Given the description of an element on the screen output the (x, y) to click on. 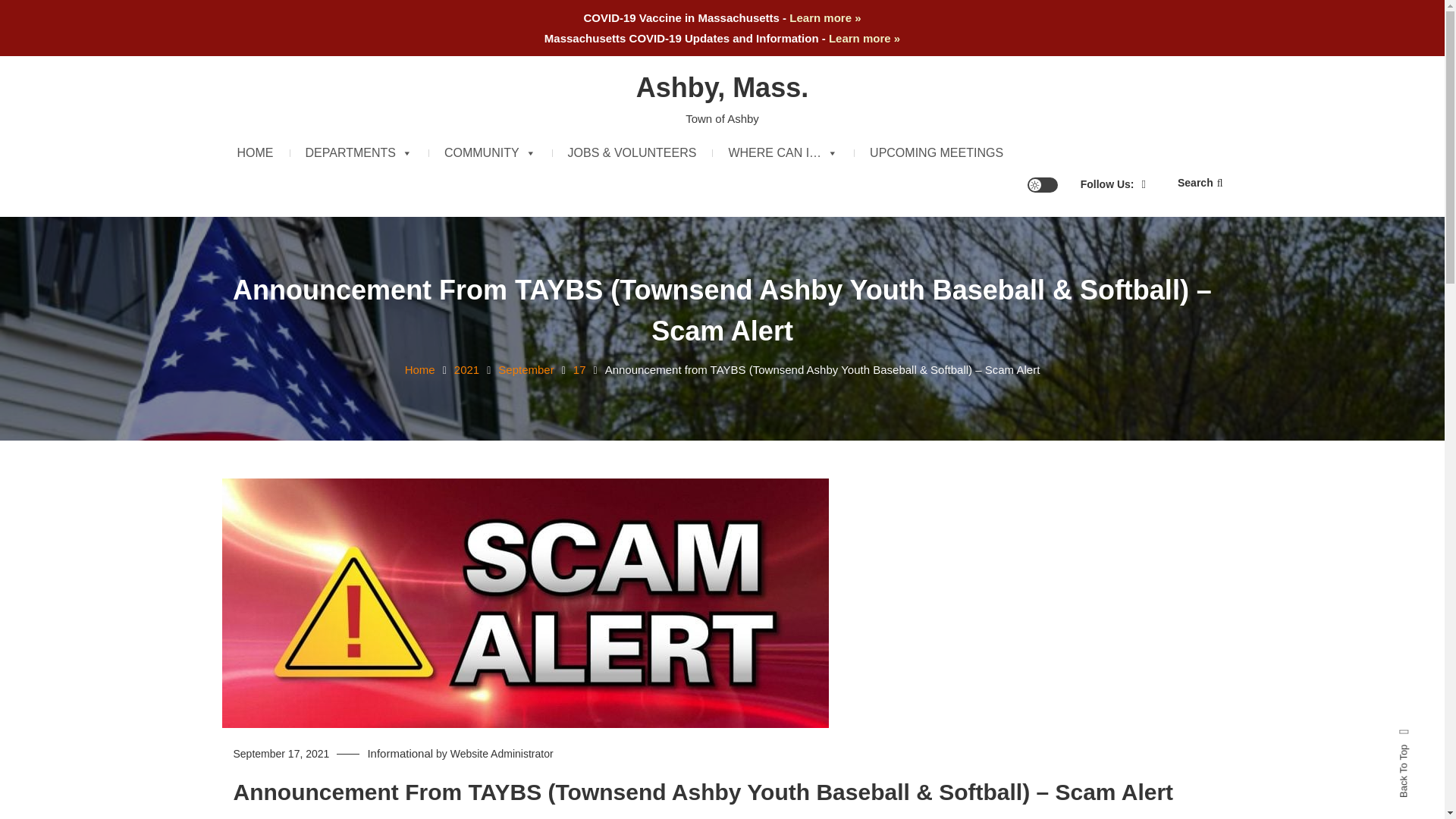
Ashby, Mass. (722, 87)
DEPARTMENTS (357, 153)
HOME (254, 153)
